Given the description of an element on the screen output the (x, y) to click on. 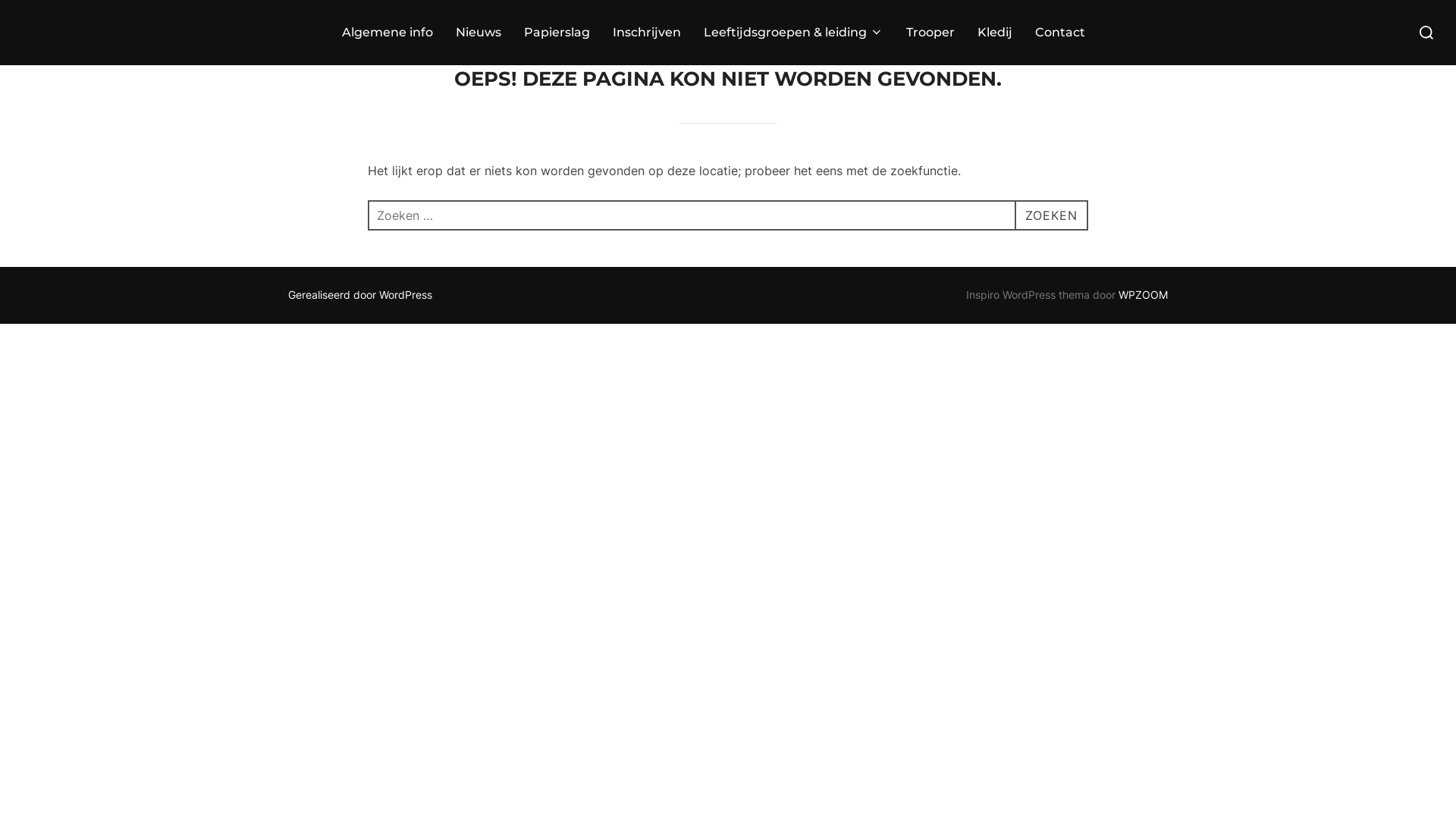
ZOEKEN Element type: text (1051, 215)
Papierslag Element type: text (556, 32)
Nieuws Element type: text (478, 32)
Algemene info Element type: text (387, 32)
Contact Element type: text (1060, 32)
Kledij Element type: text (994, 32)
WPZOOM Element type: text (1142, 294)
Gerealiseerd door WordPress Element type: text (360, 294)
Inschrijven Element type: text (646, 32)
Trooper Element type: text (930, 32)
Leeftijdsgroepen & leiding Element type: text (793, 32)
